Given the description of an element on the screen output the (x, y) to click on. 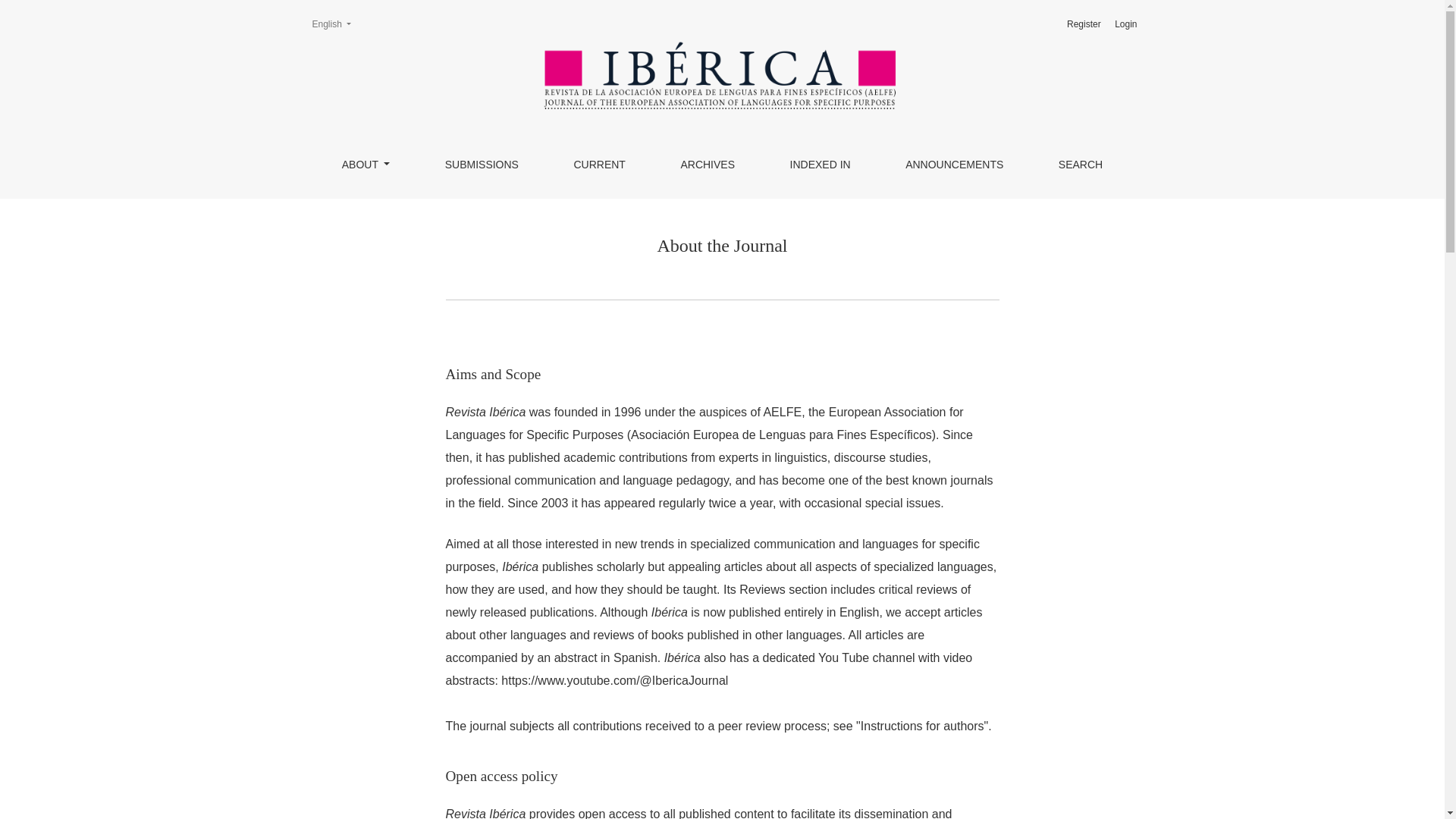
CURRENT (598, 164)
SUBMISSIONS (481, 164)
ANNOUNCEMENTS (954, 164)
SEARCH (1080, 164)
ARCHIVES (331, 24)
INDEXED IN (707, 164)
ABOUT (820, 164)
Register (366, 164)
Login (1083, 24)
